Given the description of an element on the screen output the (x, y) to click on. 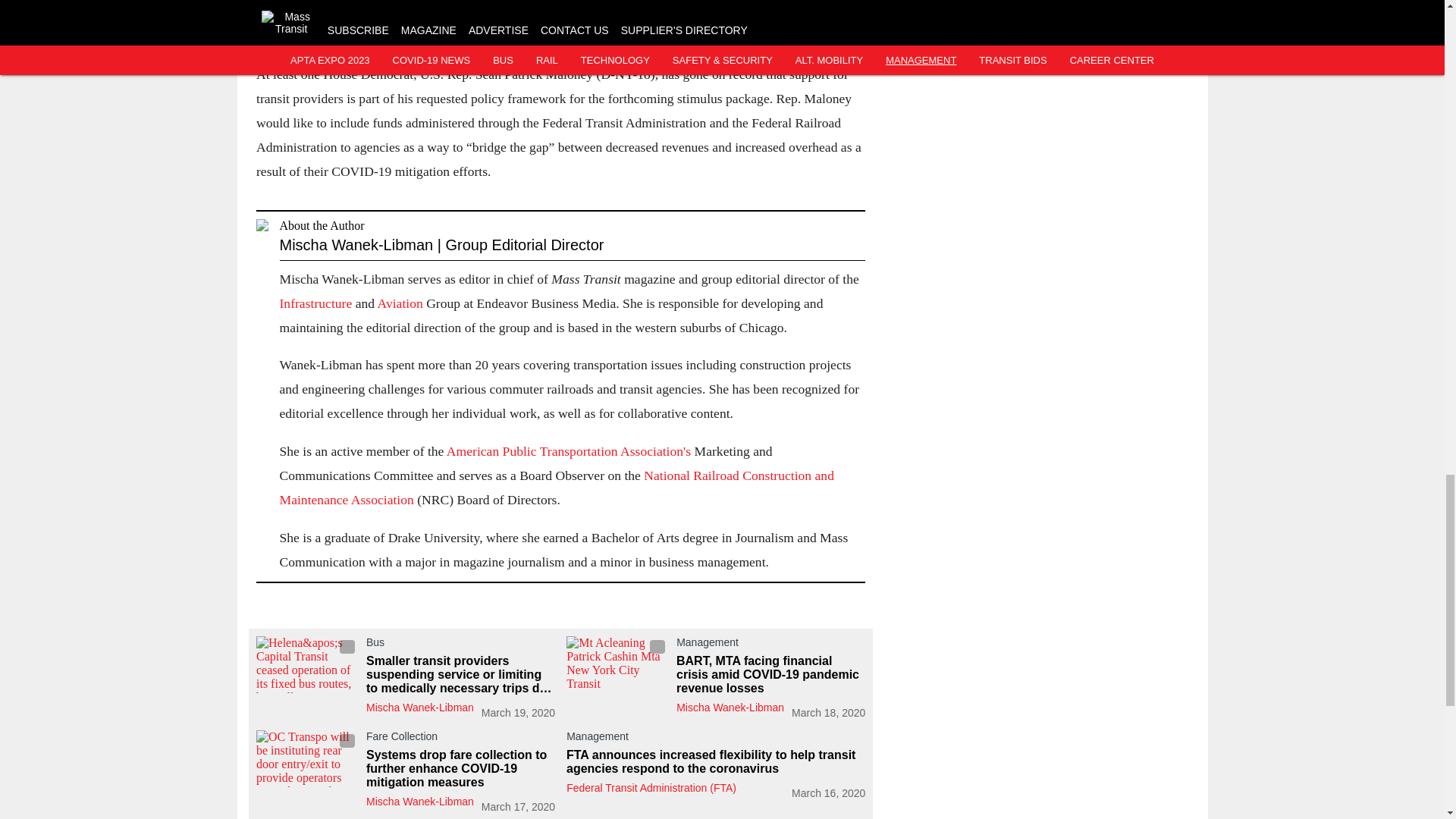
Management (770, 645)
Mischa Wanek-Libman (730, 707)
American Public Transportation Association's (568, 450)
Aviation (401, 303)
Bus (459, 645)
Mischa Wanek-Libman (419, 707)
National Railroad Construction and Maintenance Association (555, 486)
Mt Acleaning Patrick Cashin Mta New York City Transit (617, 664)
